Given the description of an element on the screen output the (x, y) to click on. 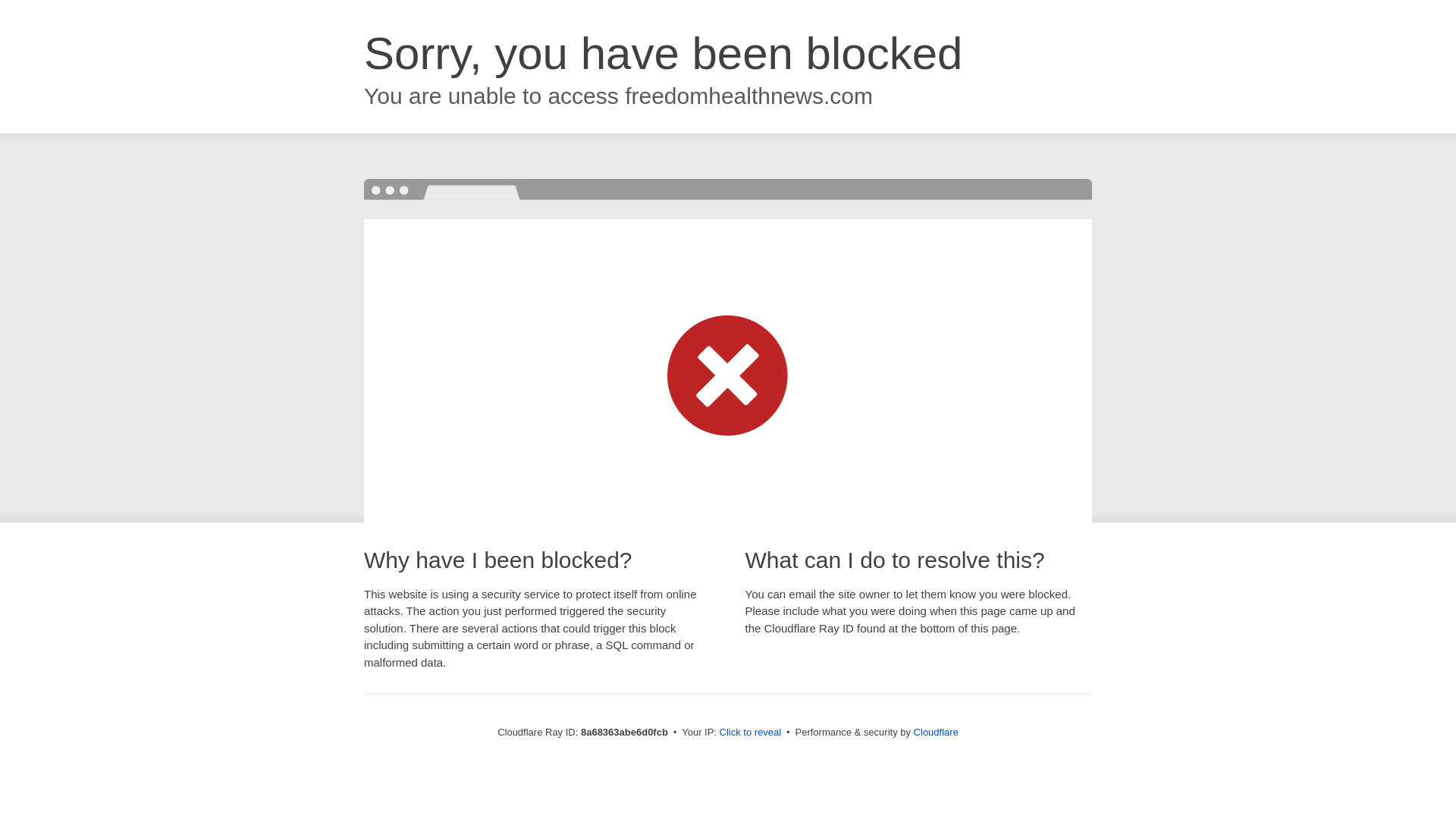
Cloudflare (936, 731)
Click to reveal (750, 732)
